Given the description of an element on the screen output the (x, y) to click on. 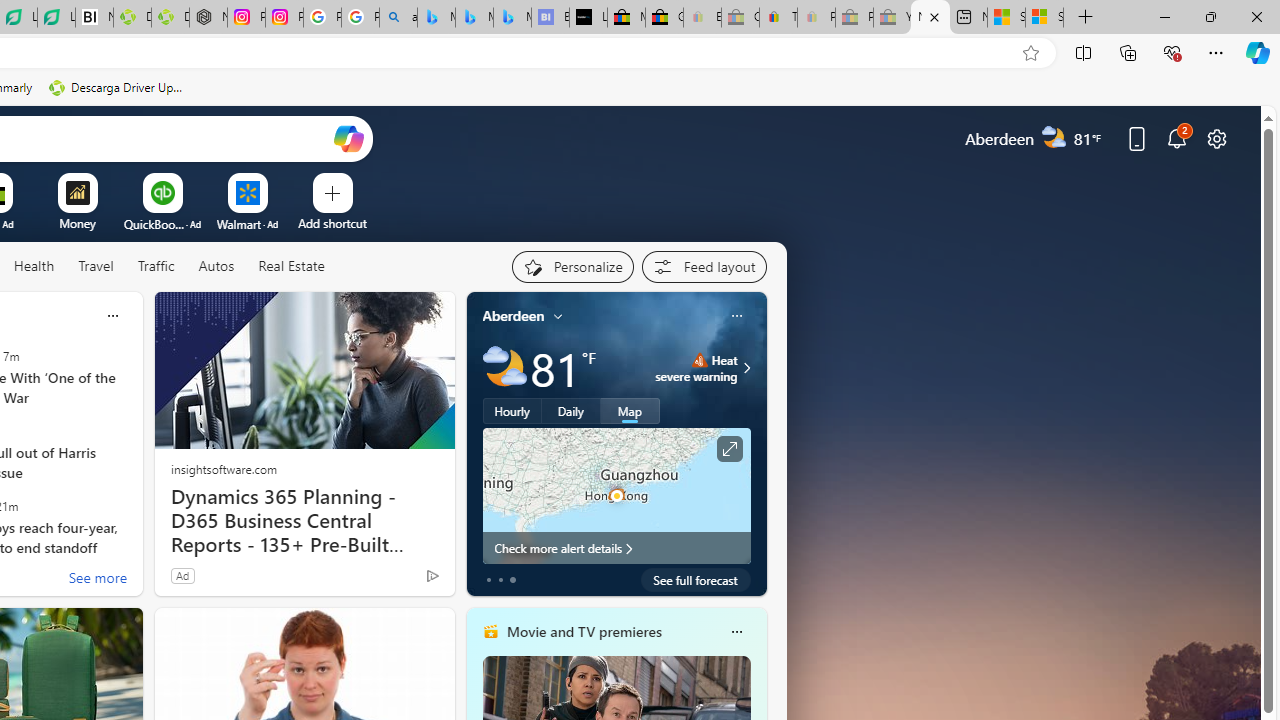
My location (558, 315)
Class: weather-arrow-glyph (746, 367)
Personalize your feed" (571, 266)
Page settings (1216, 138)
Threats and offensive language policy | eBay (778, 17)
Heat - Severe (699, 359)
